Given the description of an element on the screen output the (x, y) to click on. 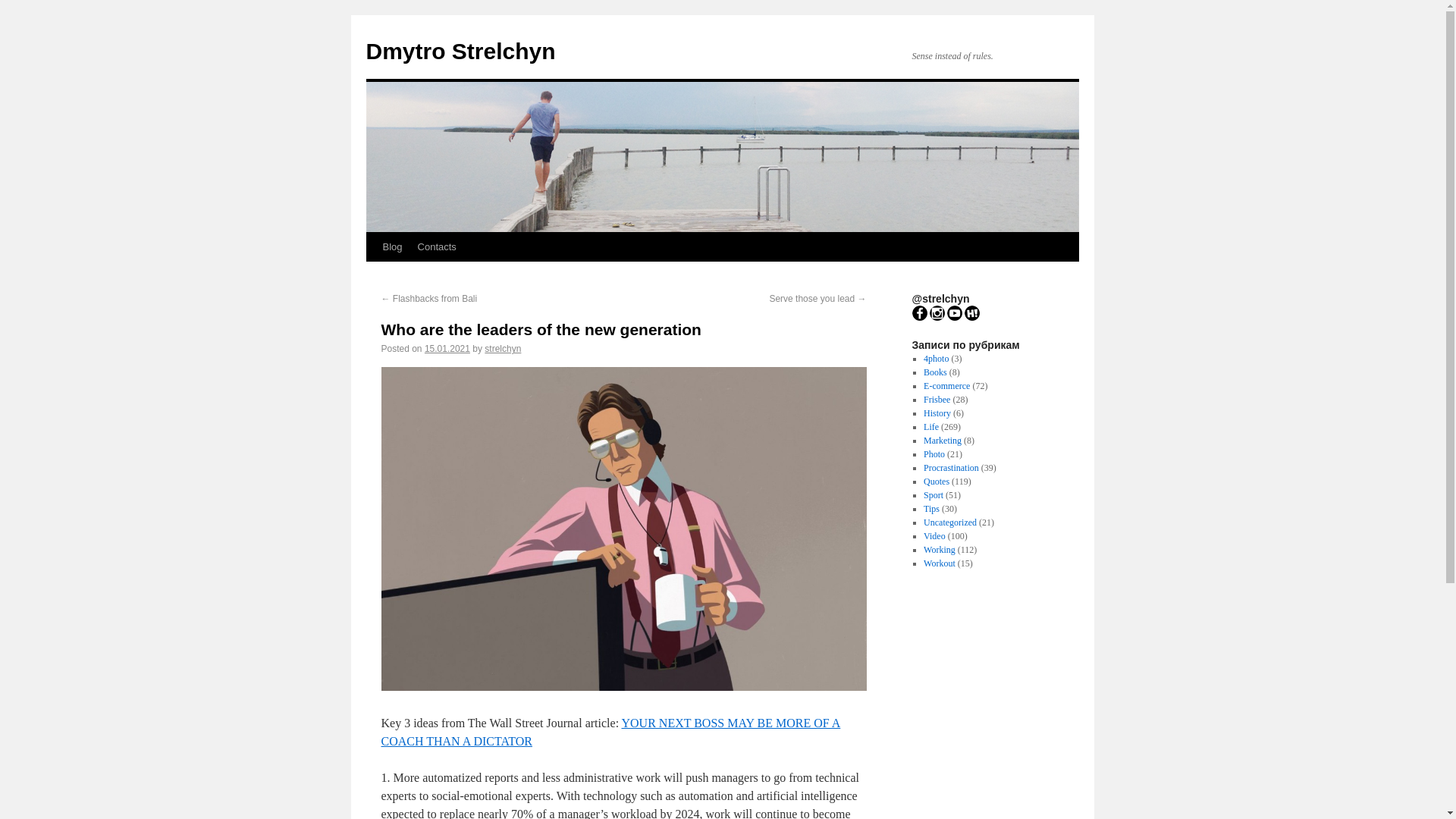
Blog (391, 246)
Video (933, 535)
Working (939, 549)
Quotes (936, 480)
E-commerce (946, 385)
strelchyn (502, 348)
Sport (933, 494)
Uncategorized (949, 521)
Marketing (941, 439)
Workout (939, 562)
